Given the description of an element on the screen output the (x, y) to click on. 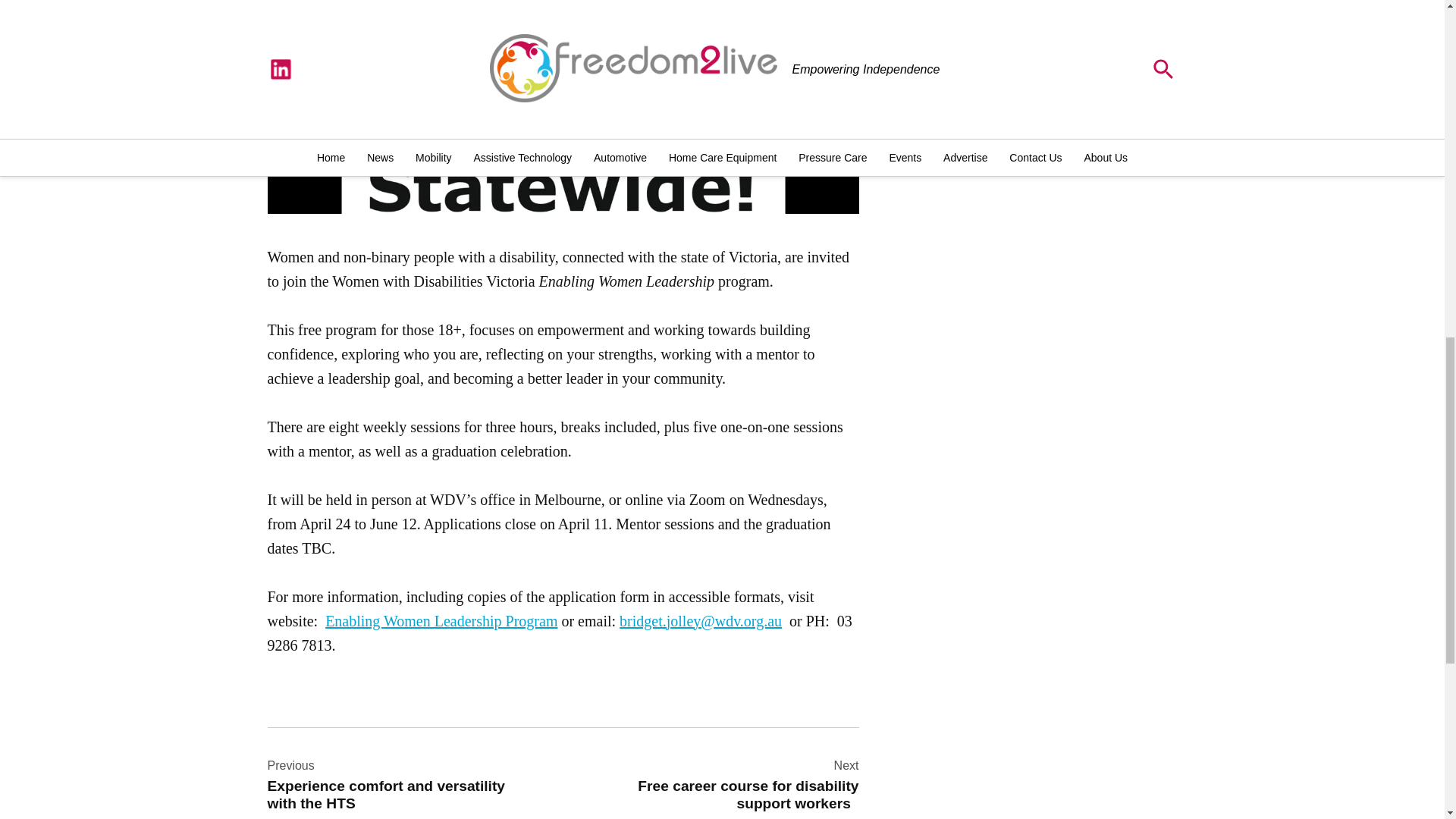
Submit (725, 784)
Submit (399, 784)
Enabling Women Leadership Program (1041, 25)
